Given the description of an element on the screen output the (x, y) to click on. 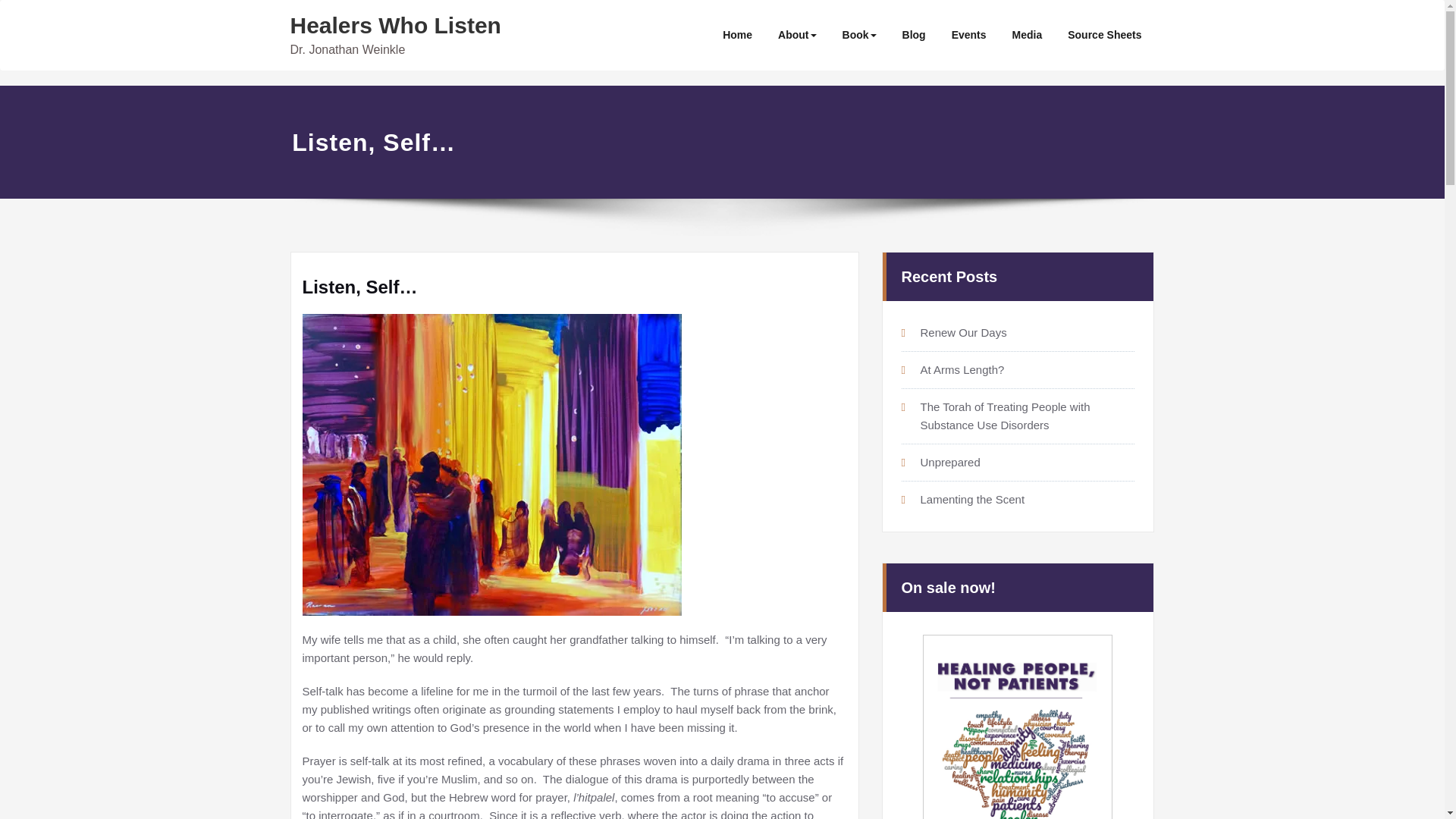
About (796, 34)
At Arms Length? (962, 367)
Events (968, 34)
Unprepared (949, 460)
Lamenting the Scent (972, 498)
Source Sheets (1104, 34)
The Torah of Treating People with Substance Use Disorders (1005, 413)
Renew Our Days (963, 330)
Healers Who Listen (394, 25)
